Given the description of an element on the screen output the (x, y) to click on. 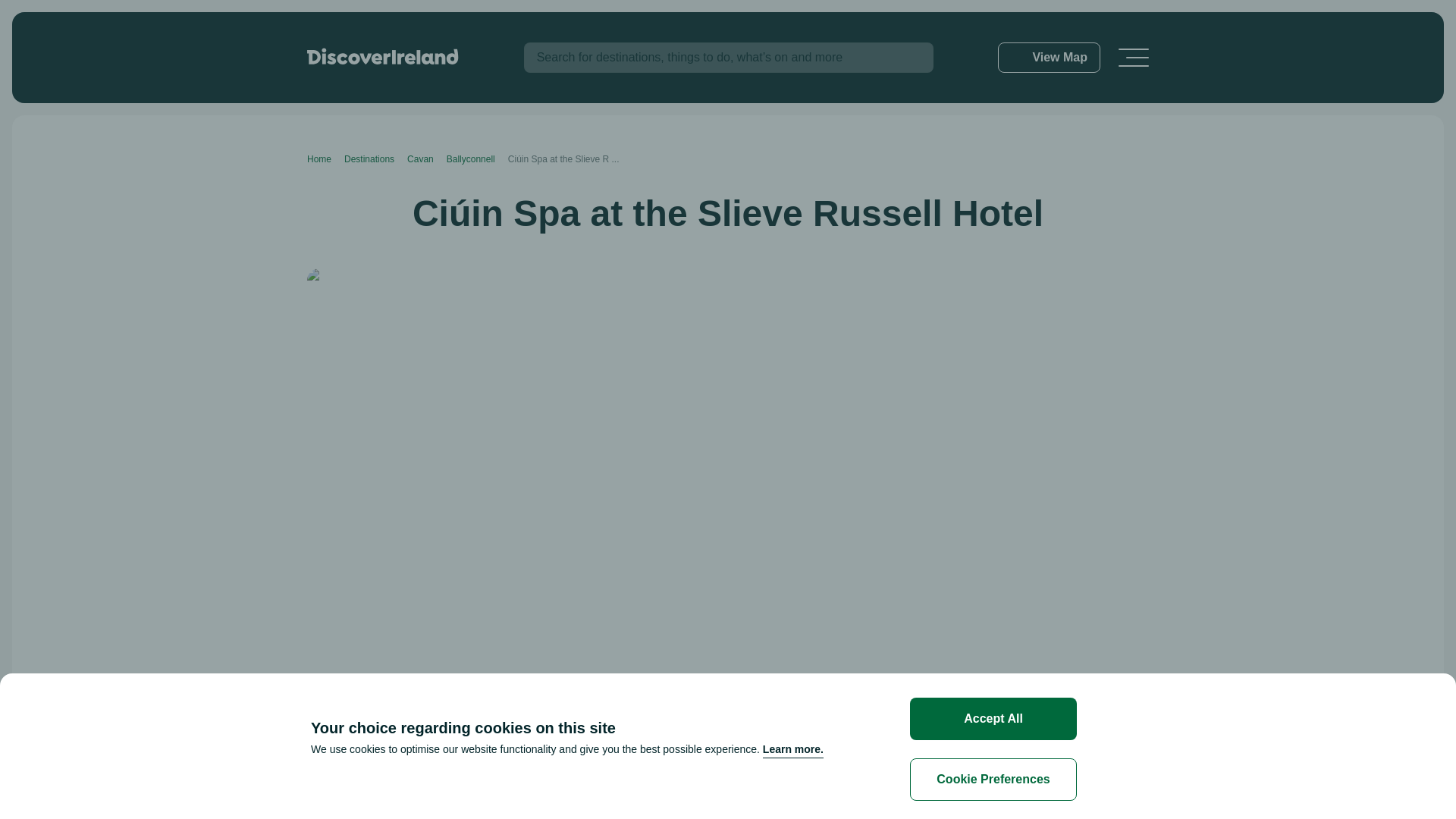
Click to go back to the homepage (382, 55)
Cookie Preferences (993, 779)
View Map (1048, 57)
Search (908, 57)
Learn more. (793, 749)
Accept All (993, 718)
